Given the description of an element on the screen output the (x, y) to click on. 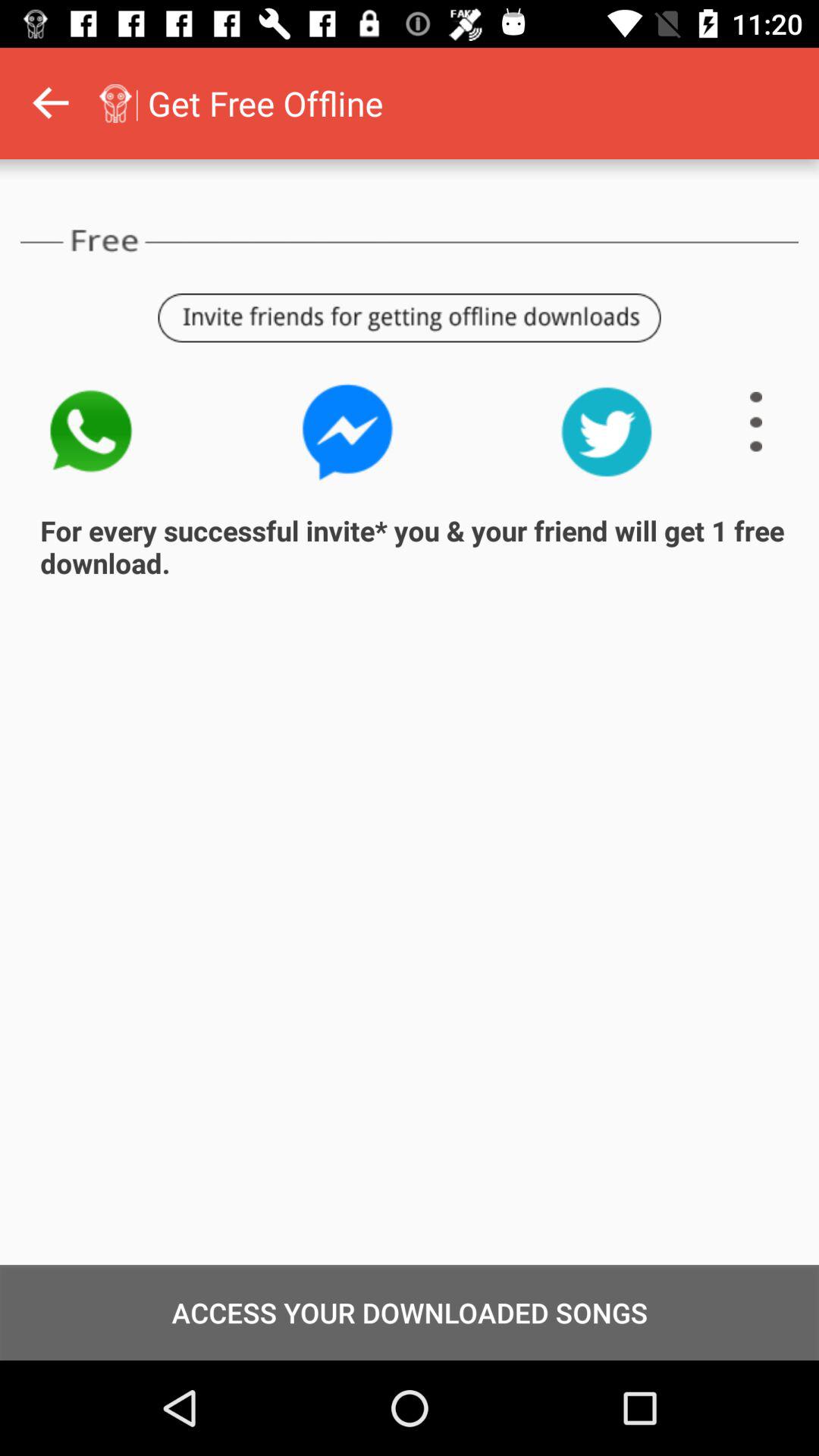
turn off icon above the access your downloaded (0, 102)
